Given the description of an element on the screen output the (x, y) to click on. 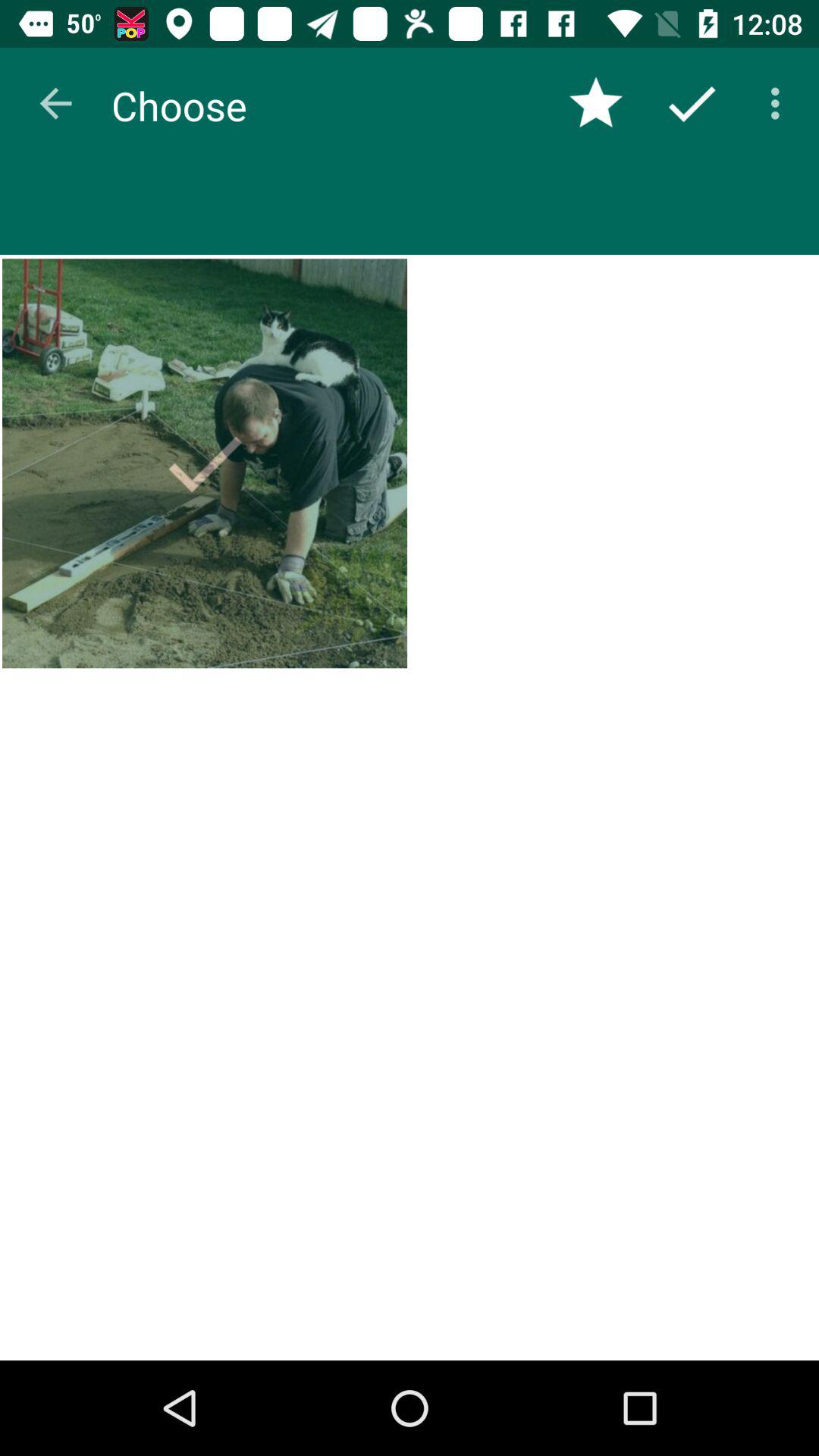
tap the icon to the right of choose (595, 103)
